Given the description of an element on the screen output the (x, y) to click on. 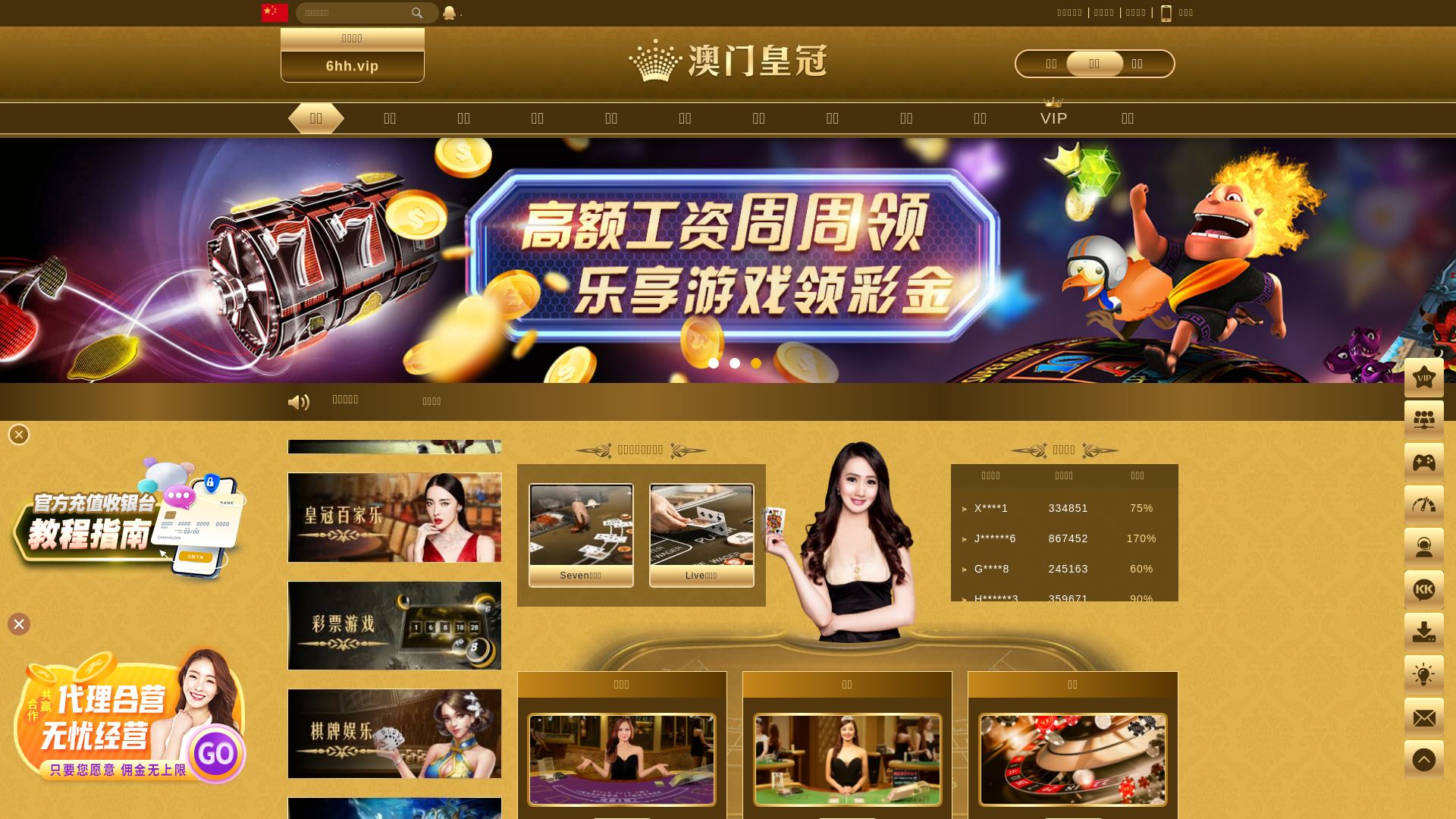
VIP Element type: text (1053, 118)
